Given the description of an element on the screen output the (x, y) to click on. 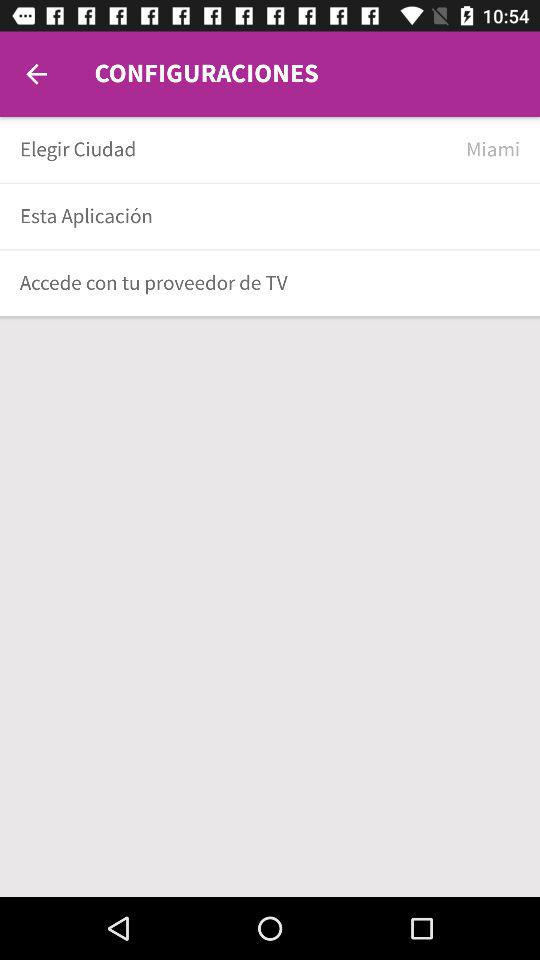
tap the item above the elegir ciudad icon (36, 74)
